Given the description of an element on the screen output the (x, y) to click on. 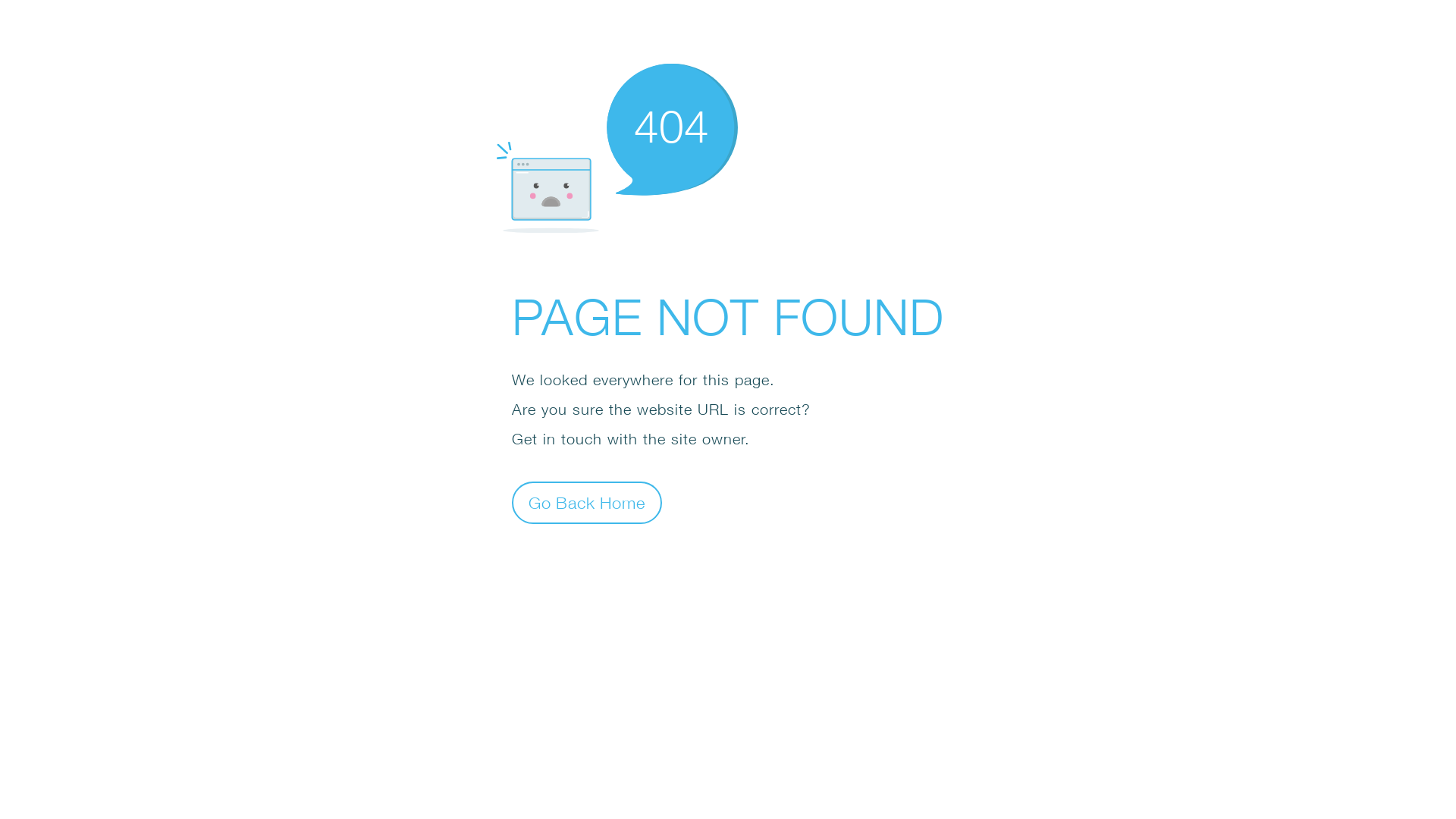
Go Back Home Element type: text (586, 502)
